Given the description of an element on the screen output the (x, y) to click on. 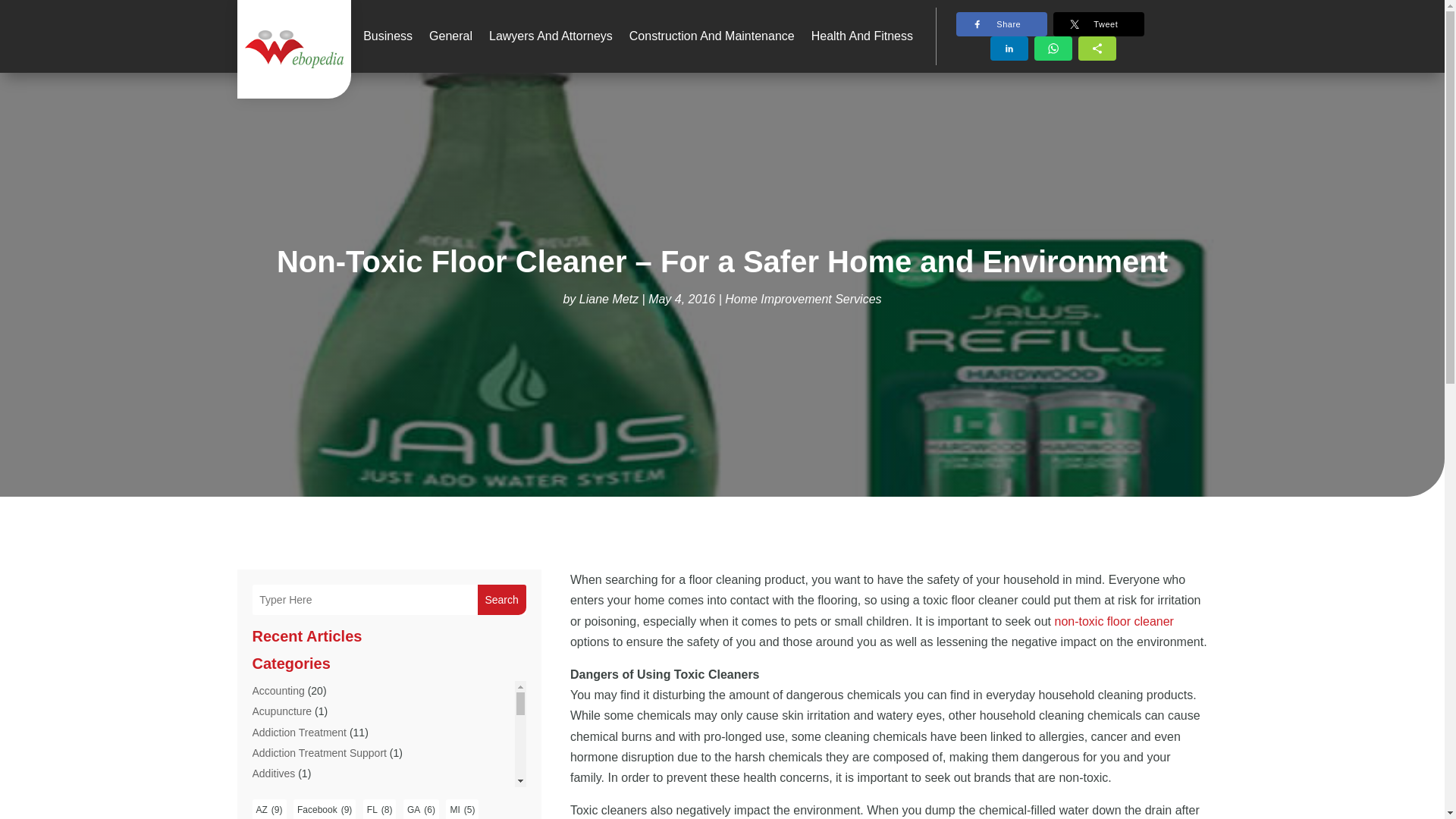
Search (501, 599)
Health And Fitness (861, 36)
Home Improvement Services (802, 298)
Adoption (272, 813)
Liane Metz (609, 298)
Accounting (277, 690)
Non-Toxic Floor Cleaner (1113, 621)
Addiction Treatment (298, 732)
Addiction Treatment Support (318, 752)
Construction And Maintenance (711, 36)
Posts by Liane Metz (609, 298)
Additives (273, 773)
Acupuncture (281, 711)
Adhesives (276, 793)
Lawyers And Attorneys (550, 36)
